Given the description of an element on the screen output the (x, y) to click on. 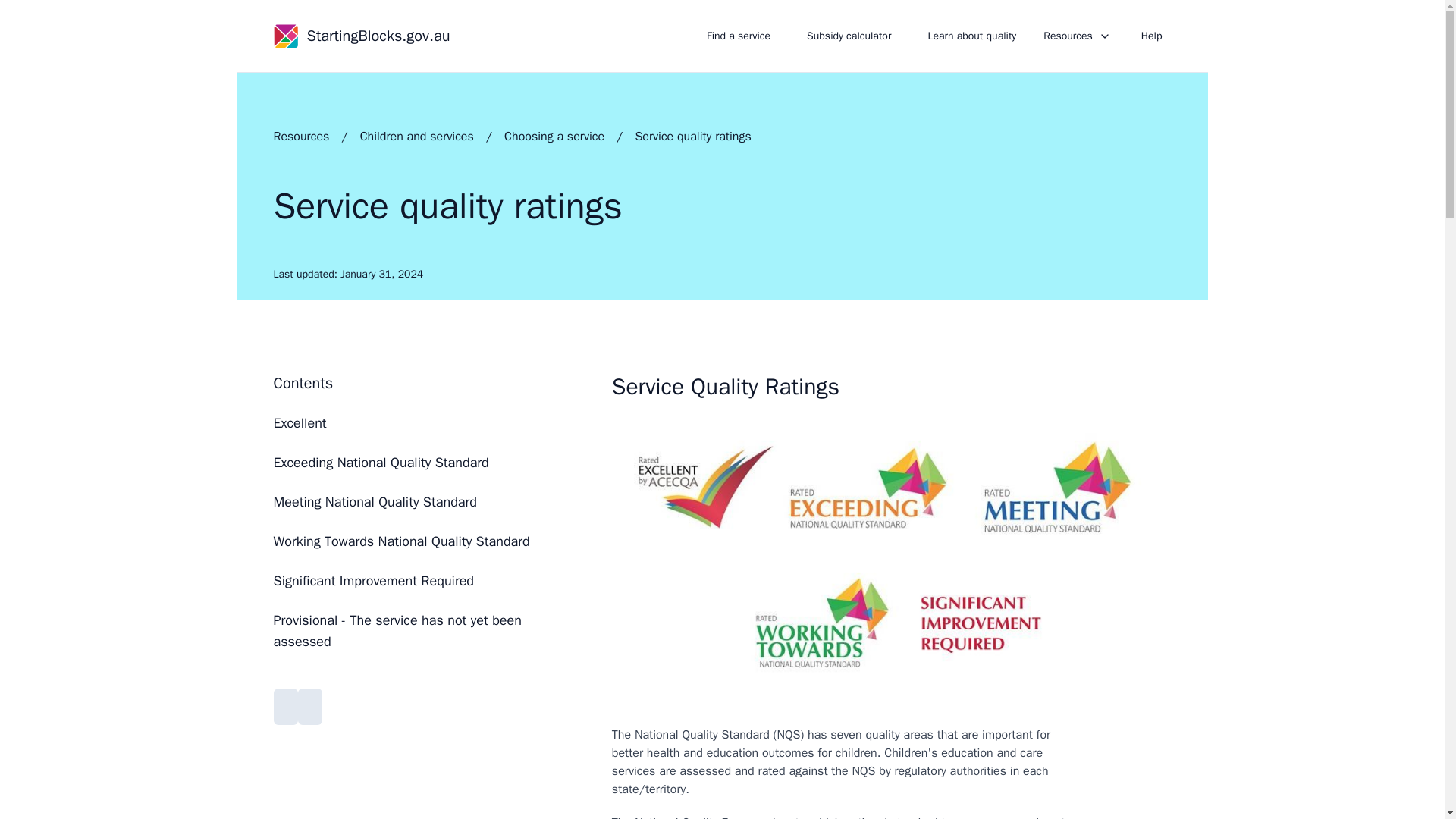
Meeting National Quality Standard (417, 501)
choosing a service (553, 136)
Provisional - The service has not yet been assessed (417, 630)
Subsidy calculator (848, 36)
StartingBlocks.gov.au (361, 35)
resources (301, 136)
Significant Improvement Required (417, 580)
children and services (416, 136)
Excellent (417, 423)
Resources (1077, 36)
